Given the description of an element on the screen output the (x, y) to click on. 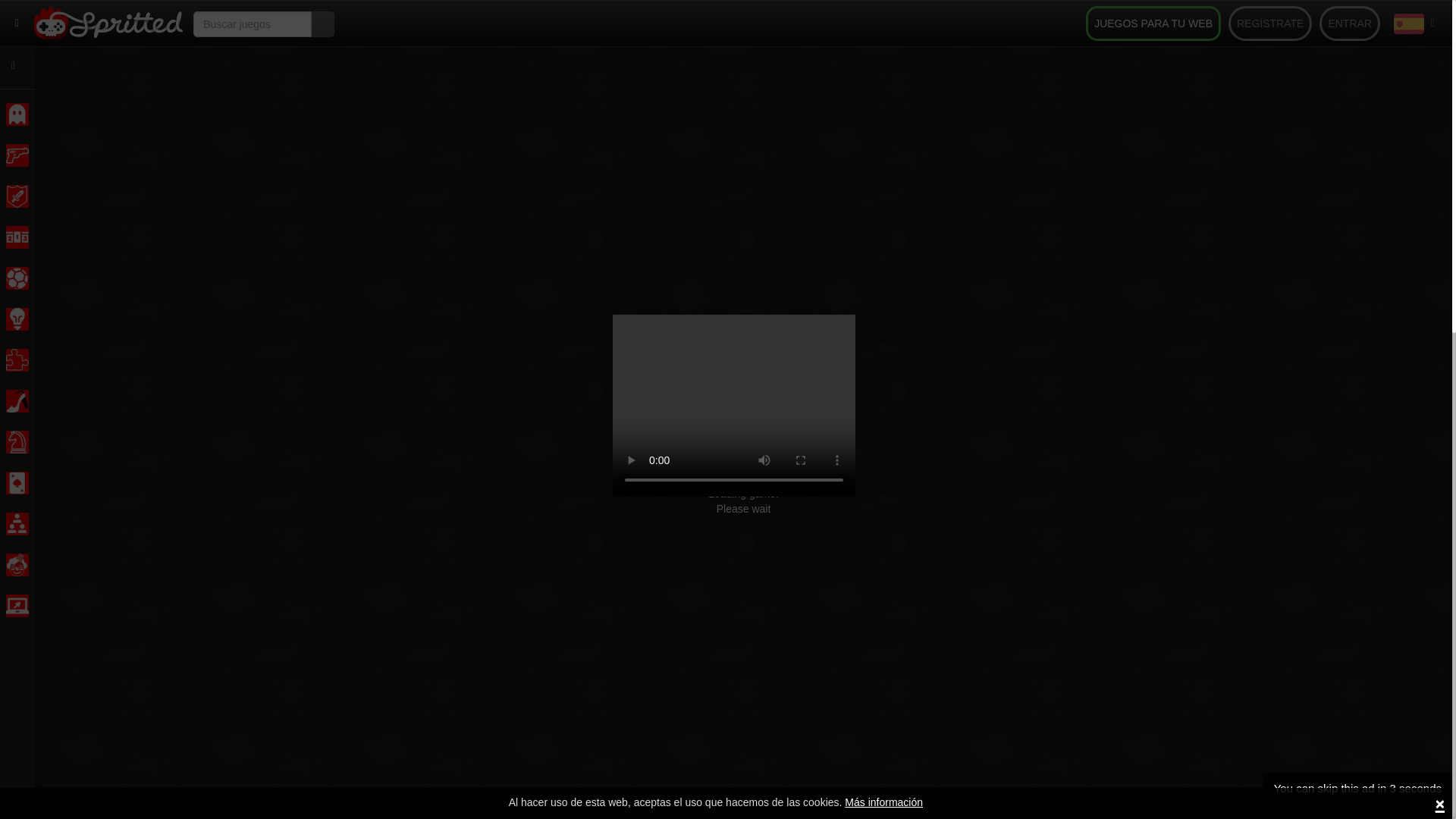
ENTRAR (1349, 22)
JUEGOS PARA TU WEB (1153, 22)
Aventuras (17, 196)
Juegos para tu web (1153, 22)
